Given the description of an element on the screen output the (x, y) to click on. 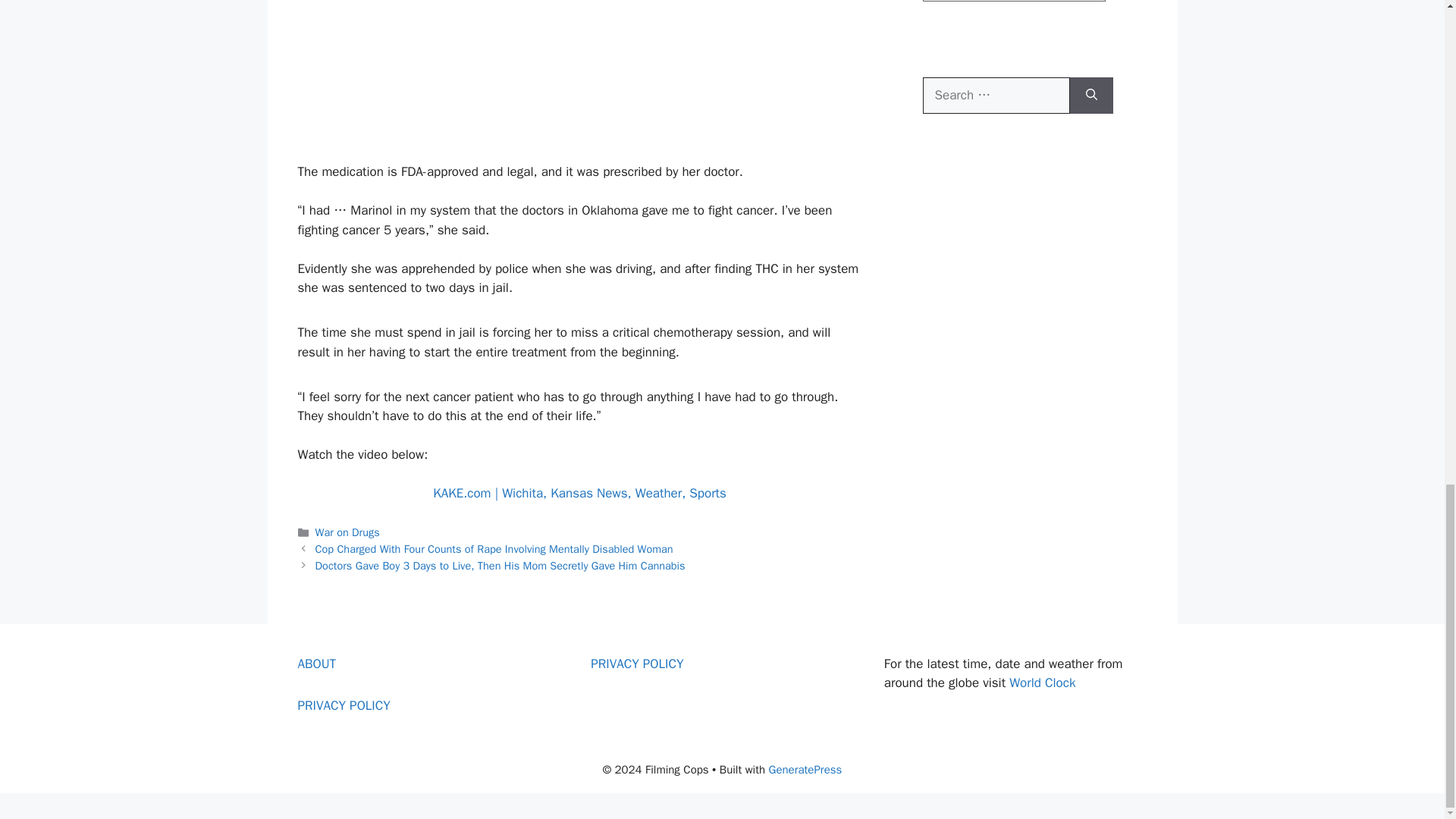
World Clock (1042, 682)
War on Drugs (347, 531)
PRIVACY POLICY (636, 663)
ABOUT (316, 663)
GeneratePress (805, 769)
Search for: (994, 94)
Advertisement (578, 68)
PRIVACY POLICY (343, 705)
